Given the description of an element on the screen output the (x, y) to click on. 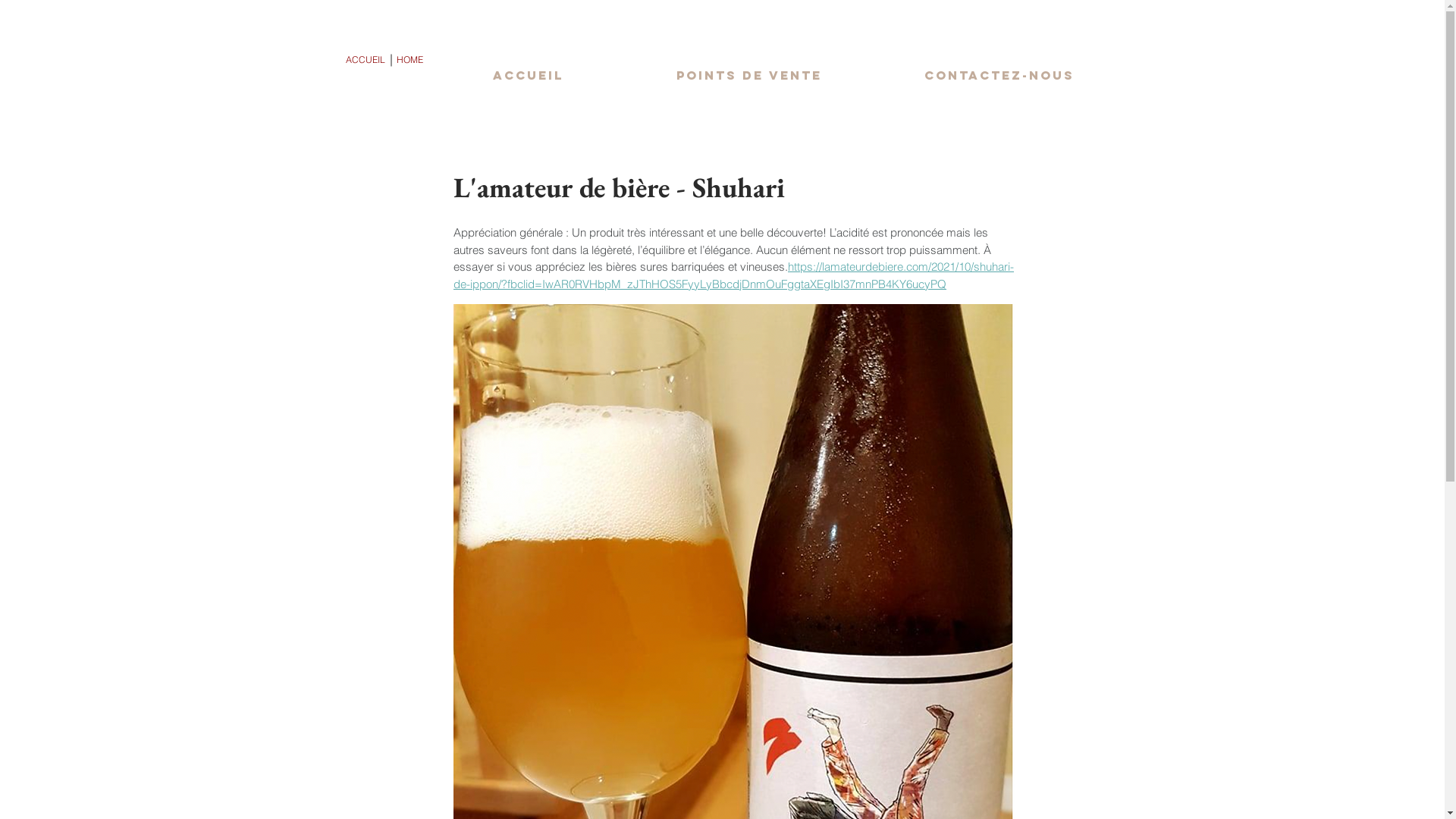
ACCUEIL Element type: text (527, 75)
POINTS DE VENTE Element type: text (749, 75)
HOME Element type: text (409, 59)
ACCUEIL Element type: text (365, 59)
